Given the description of an element on the screen output the (x, y) to click on. 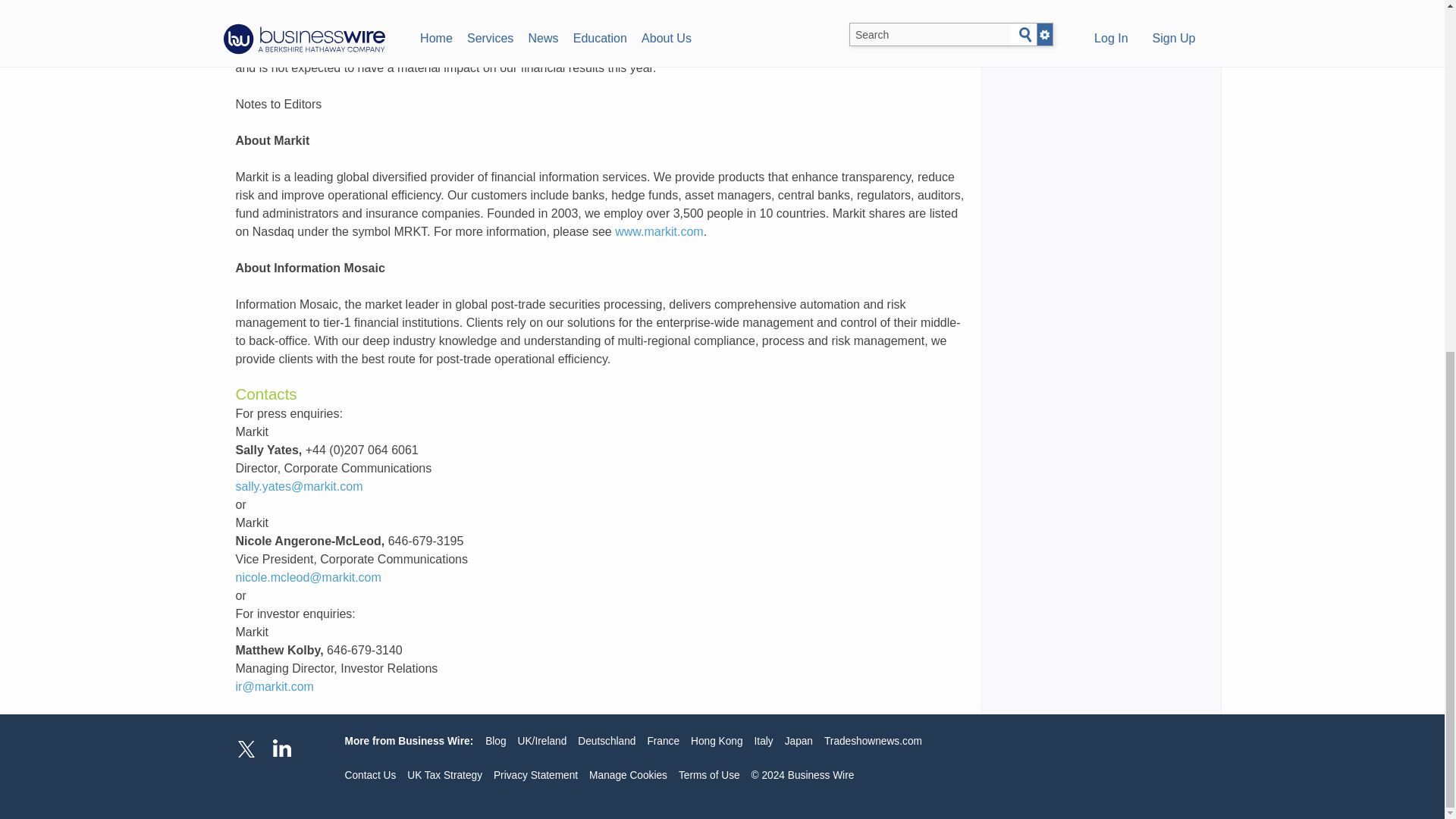
www.markit.com (658, 231)
